Given the description of an element on the screen output the (x, y) to click on. 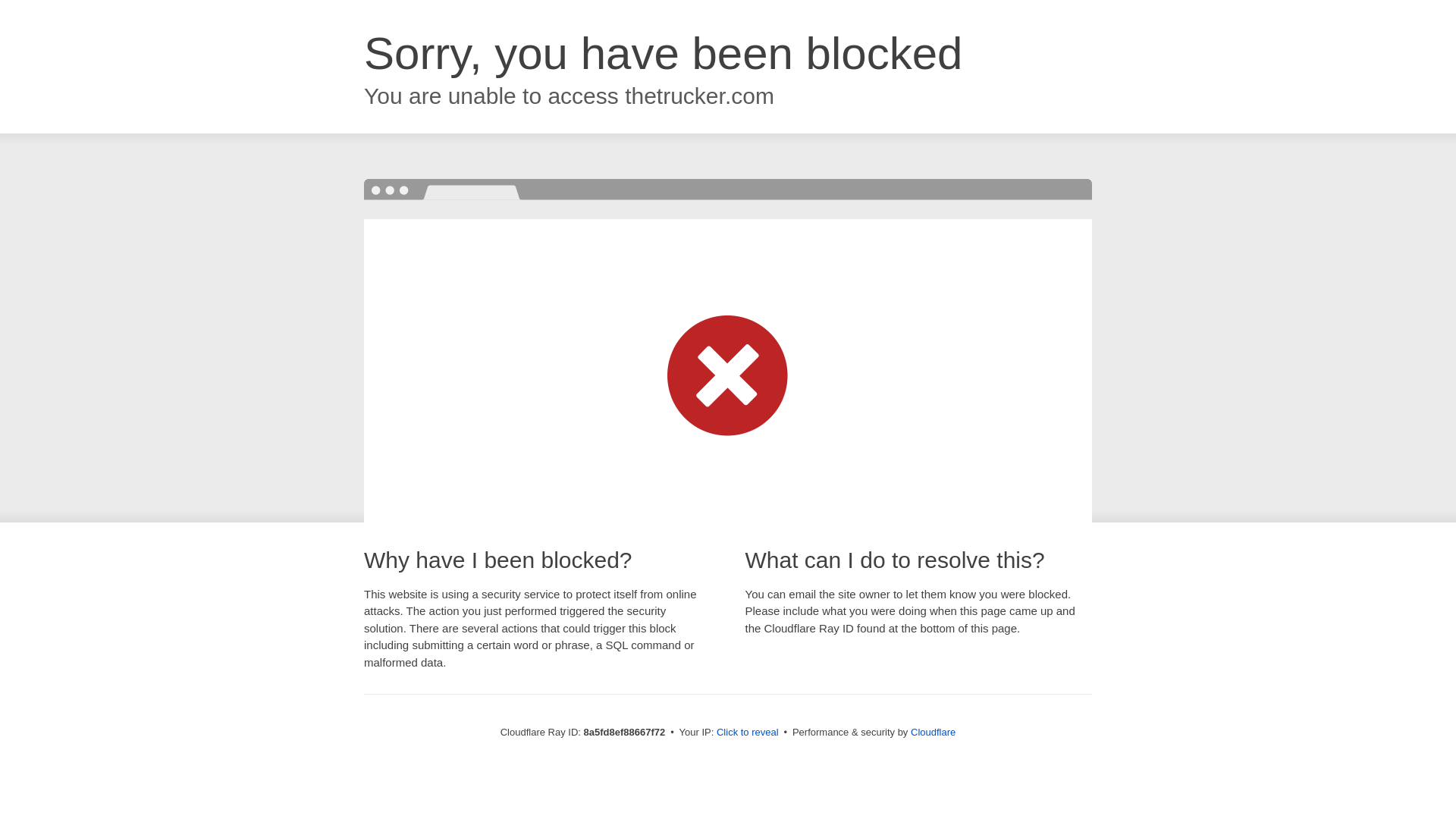
Click to reveal (747, 732)
Cloudflare (933, 731)
